Given the description of an element on the screen output the (x, y) to click on. 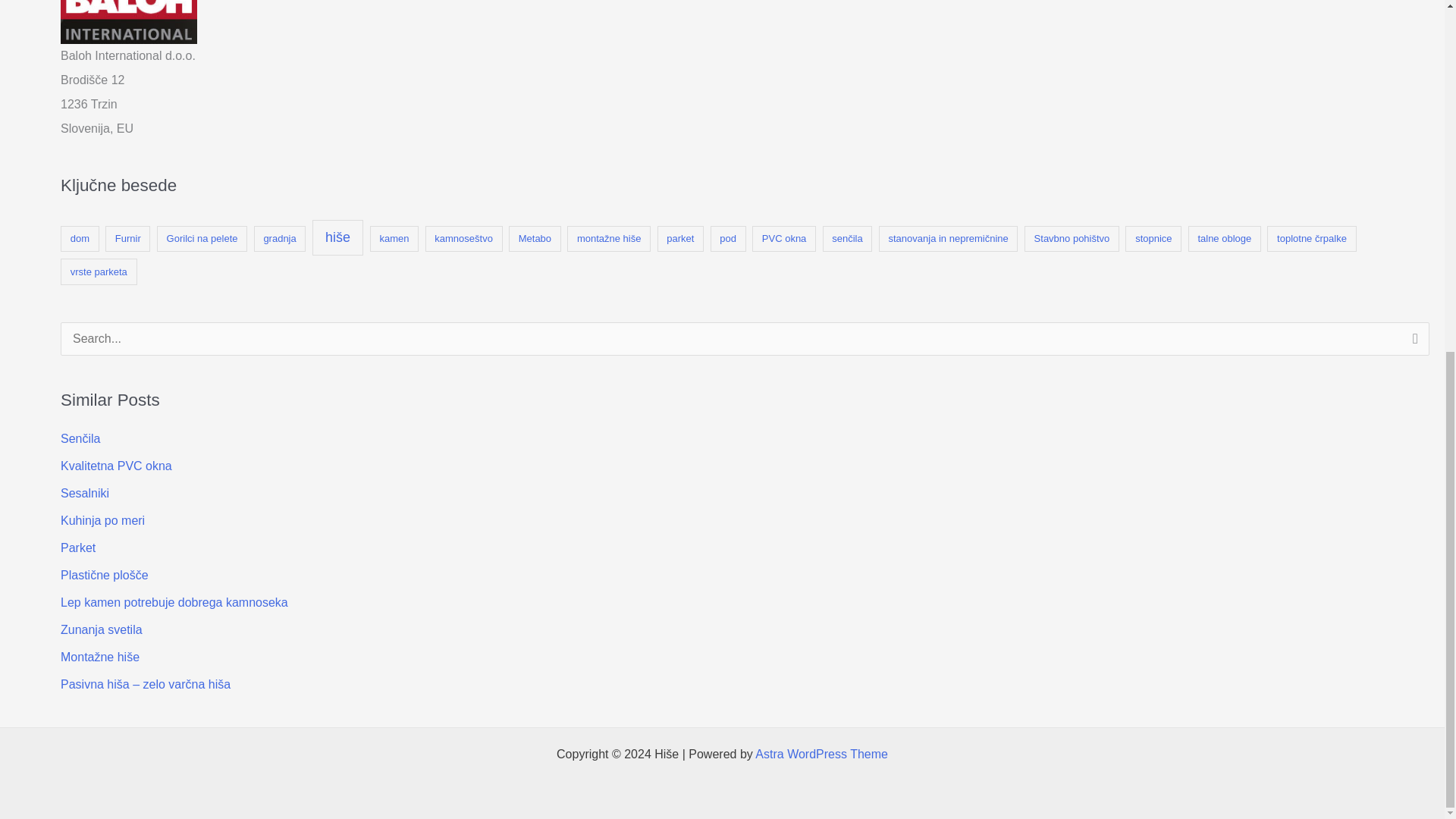
Zunanja svetila (101, 629)
Gorilci na pelete (202, 239)
Parket (78, 547)
Furnir (126, 239)
Lep kamen potrebuje dobrega kamnoseka (174, 602)
parket (681, 239)
Kvalitetna PVC okna (116, 465)
PVC okna (783, 239)
dom (80, 239)
Sesalniki (85, 492)
Metabo (534, 239)
stopnice (1152, 239)
gradnja (279, 239)
kamen (394, 239)
pod (727, 239)
